Given the description of an element on the screen output the (x, y) to click on. 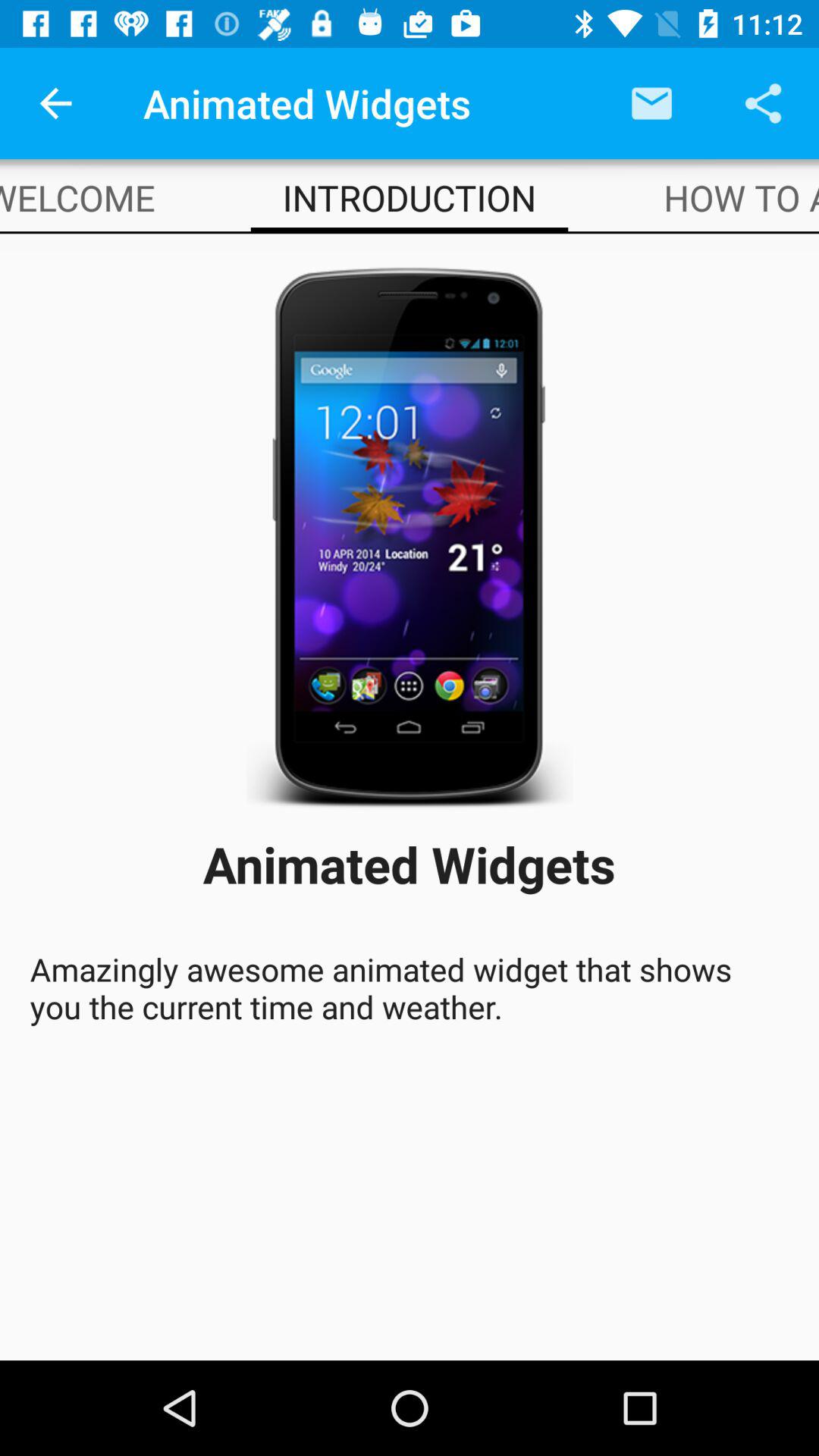
choose how to add item (741, 197)
